Given the description of an element on the screen output the (x, y) to click on. 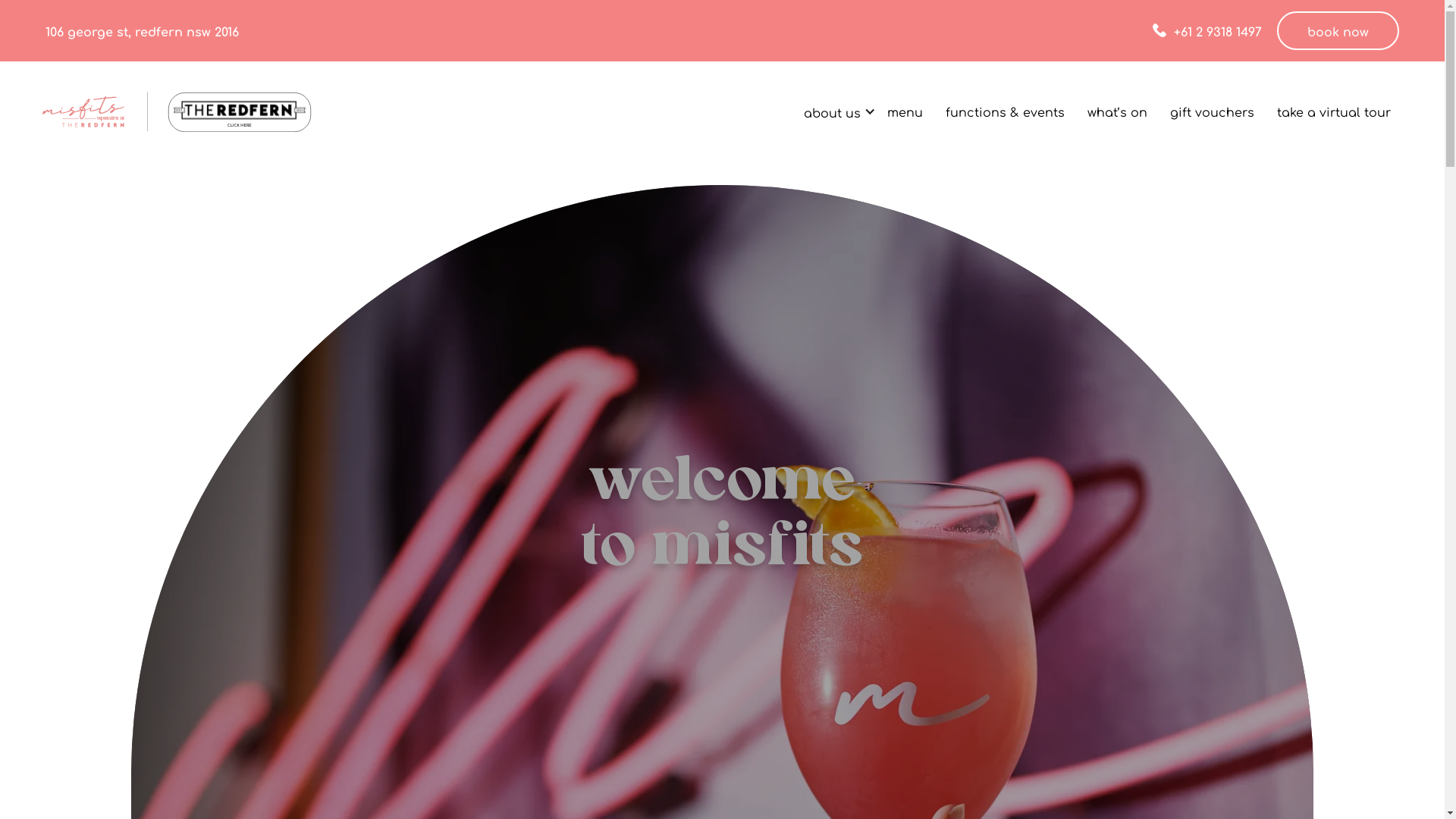
+61 2 9318 1497 Element type: text (1206, 30)
menu Element type: text (904, 111)
gift vouchers Element type: text (1211, 111)
book now Element type: text (1338, 30)
take a virtual tour Element type: text (1333, 111)
about us Element type: text (831, 110)
functions & events Element type: text (1005, 111)
